Given the description of an element on the screen output the (x, y) to click on. 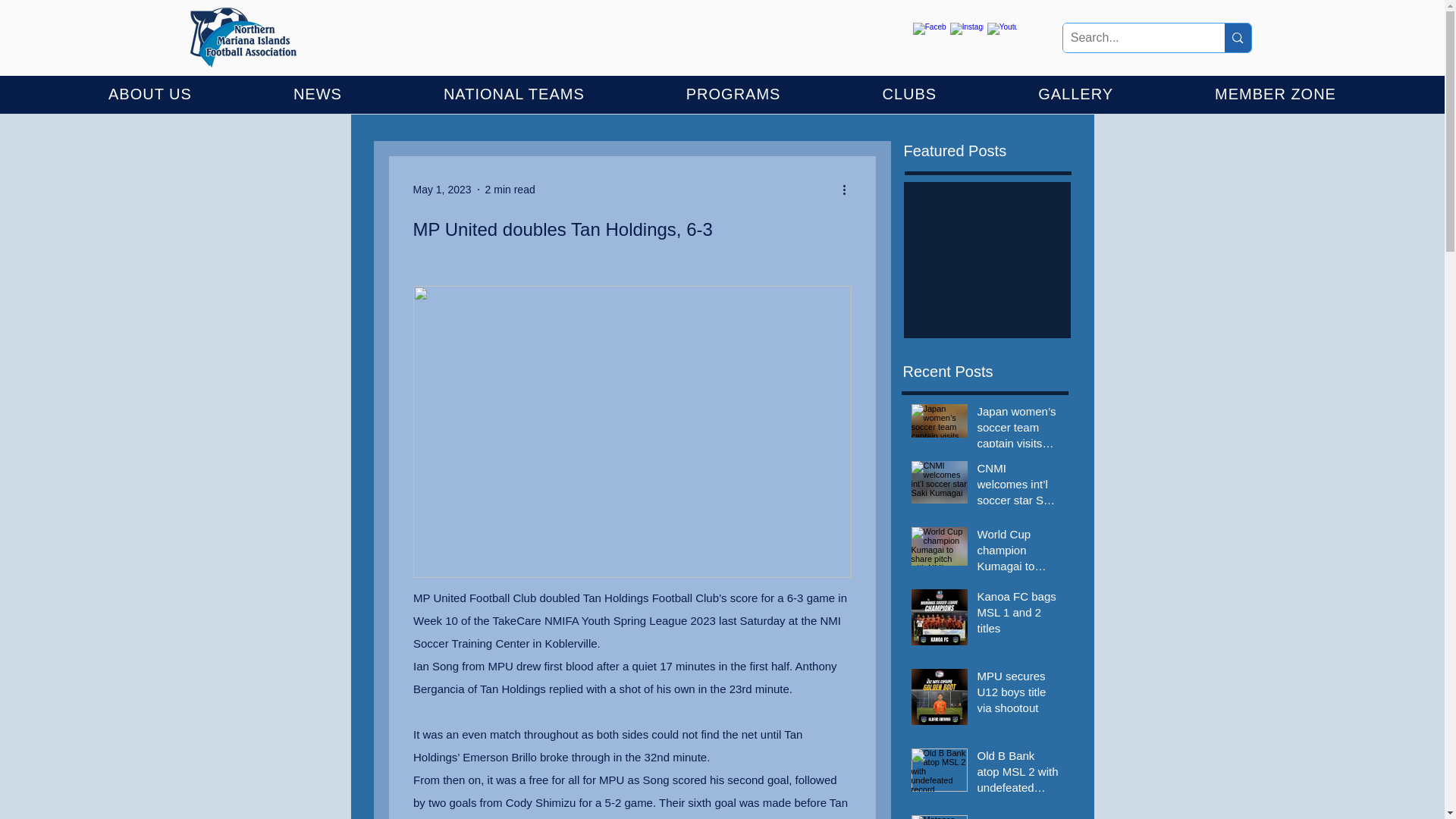
NEWS (318, 93)
CLUBS (909, 93)
May 1, 2023 (441, 189)
MEMBER ZONE (1275, 93)
GALLERY (1075, 93)
2 min read (509, 189)
